Given the description of an element on the screen output the (x, y) to click on. 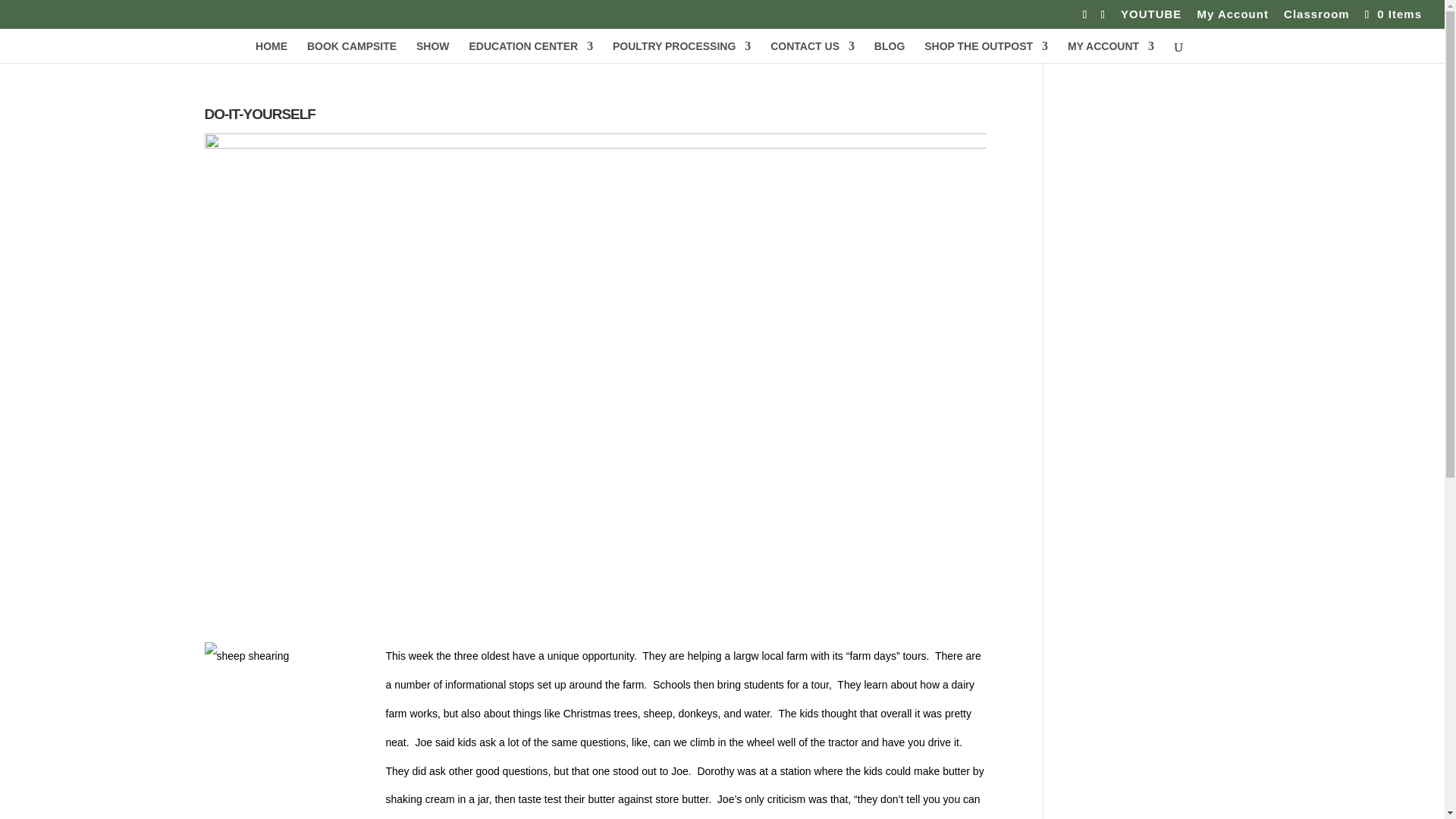
BLOG (889, 51)
SHOW (432, 51)
Classroom (1316, 17)
CONTACT US (812, 51)
My Account (1232, 17)
YOUTUBE (1150, 17)
HOME (271, 51)
0 Items (1391, 13)
MY ACCOUNT (1110, 51)
BOOK CAMPSITE (351, 51)
POULTRY PROCESSING (681, 51)
SHOP THE OUTPOST (986, 51)
sheep shearing (289, 730)
EDUCATION CENTER (530, 51)
